Given the description of an element on the screen output the (x, y) to click on. 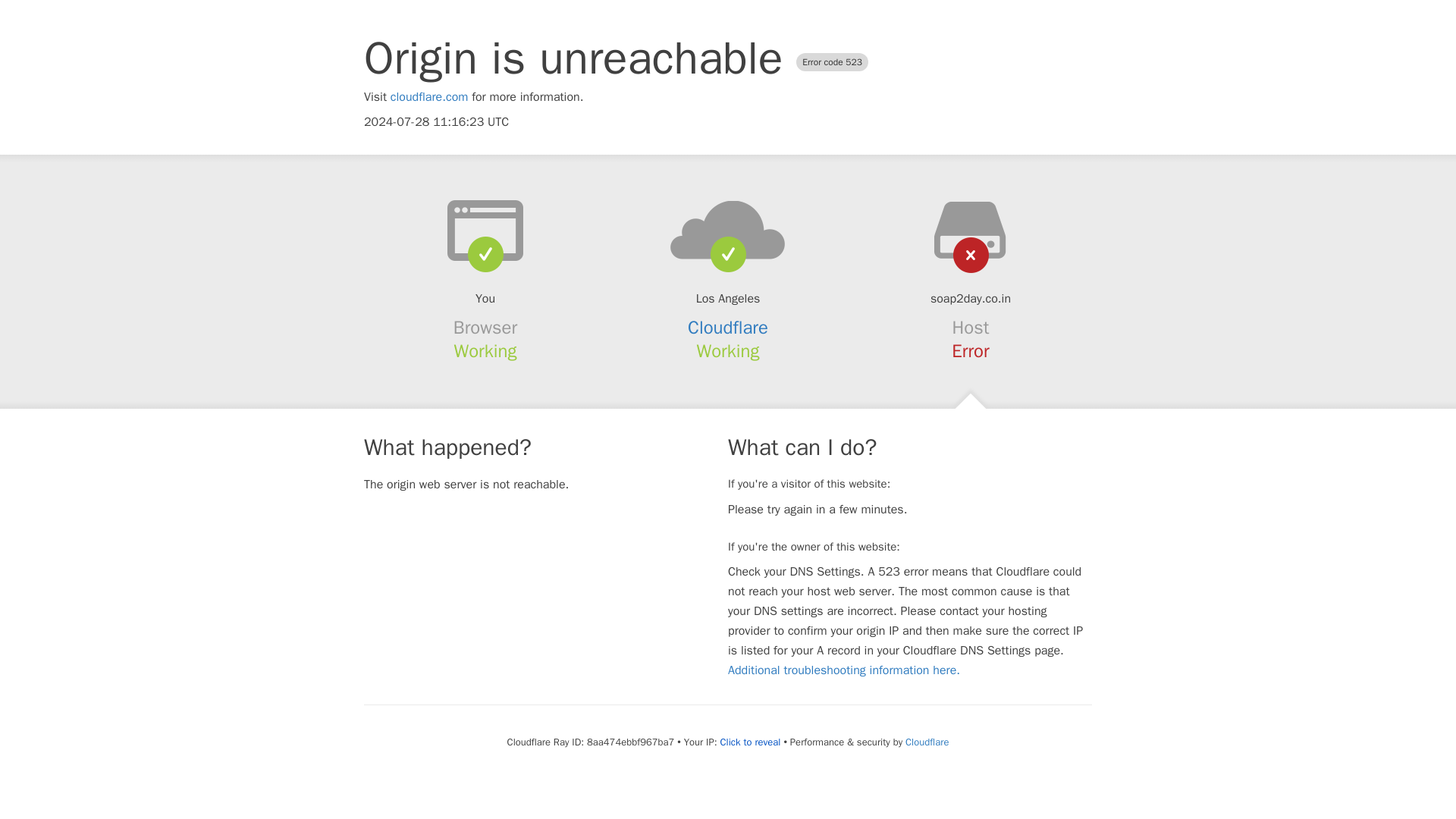
Additional troubleshooting information here. (843, 670)
cloudflare.com (429, 96)
Cloudflare (727, 327)
Click to reveal (750, 742)
Cloudflare (927, 741)
